Given the description of an element on the screen output the (x, y) to click on. 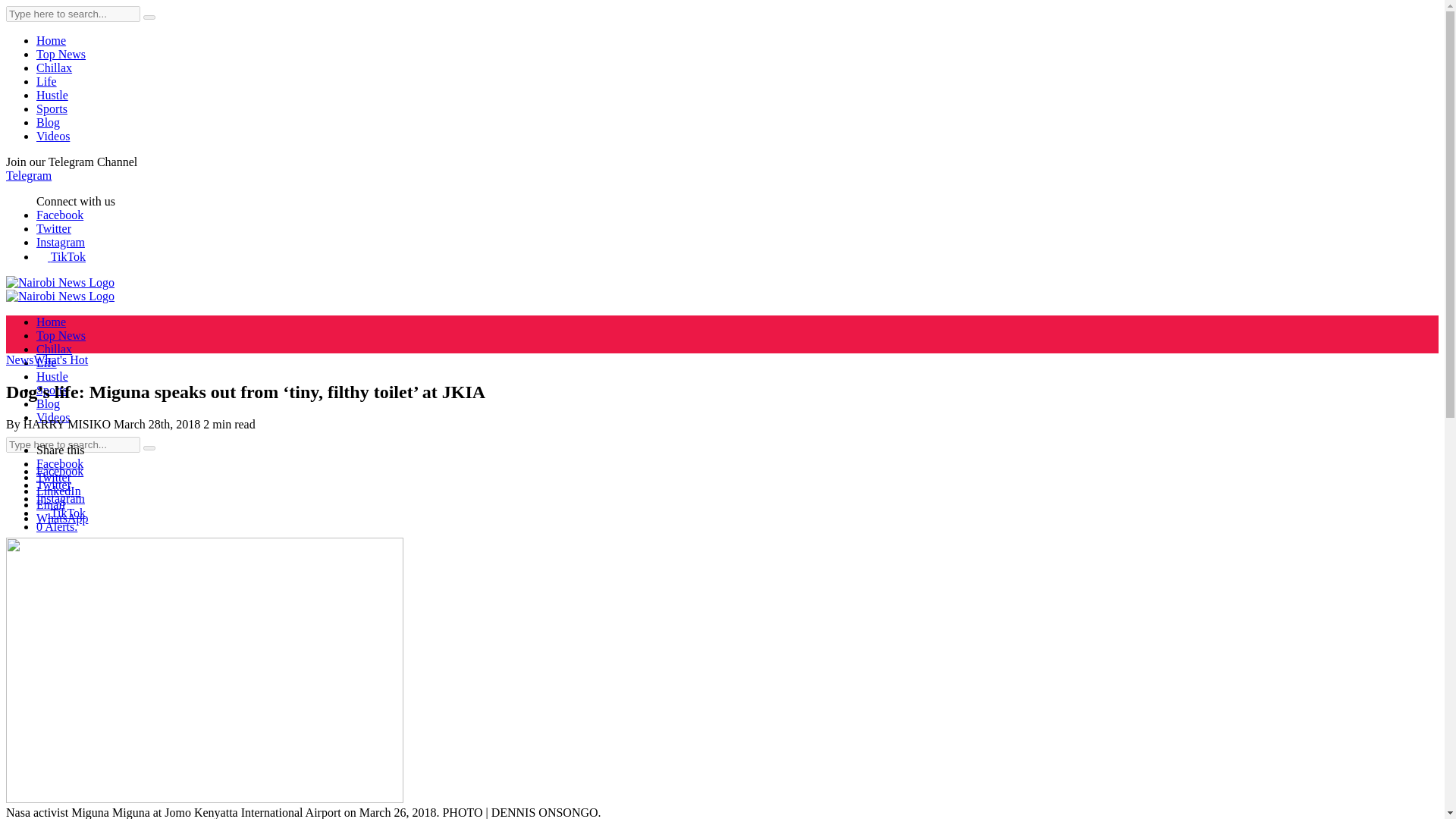
Facebook (59, 463)
Twitter (53, 228)
Top News (60, 335)
Twitter (53, 484)
TikTok (60, 512)
HARRY MISIKO (66, 423)
Twitter (53, 477)
Blog (47, 122)
Videos (52, 417)
TikTok (60, 256)
